Given the description of an element on the screen output the (x, y) to click on. 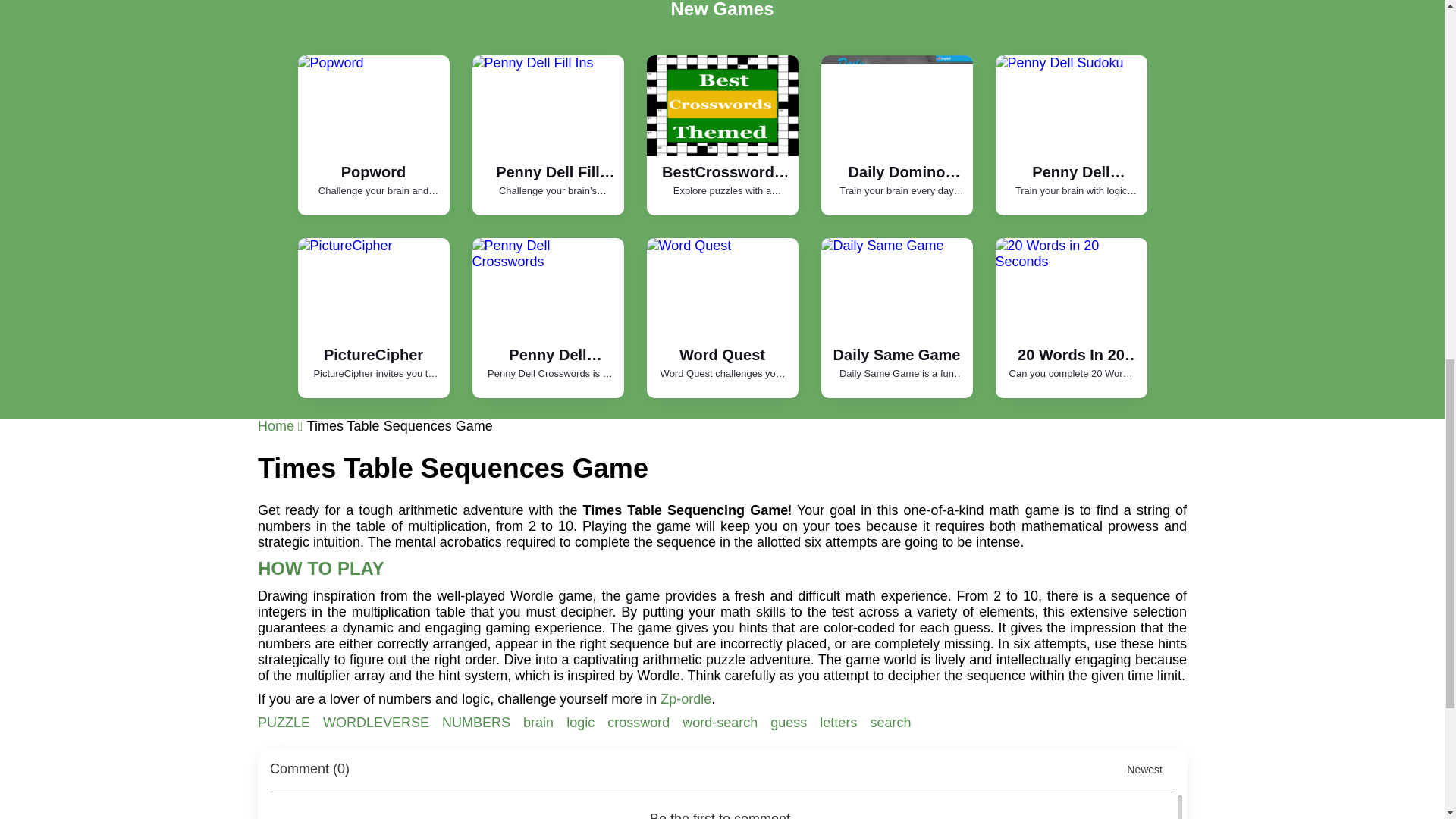
Home (282, 426)
NUMBERS (477, 722)
word-search (721, 722)
Be the first to comment (725, 807)
Logic (582, 722)
PUZZLE (285, 722)
New Games (721, 9)
